Given the description of an element on the screen output the (x, y) to click on. 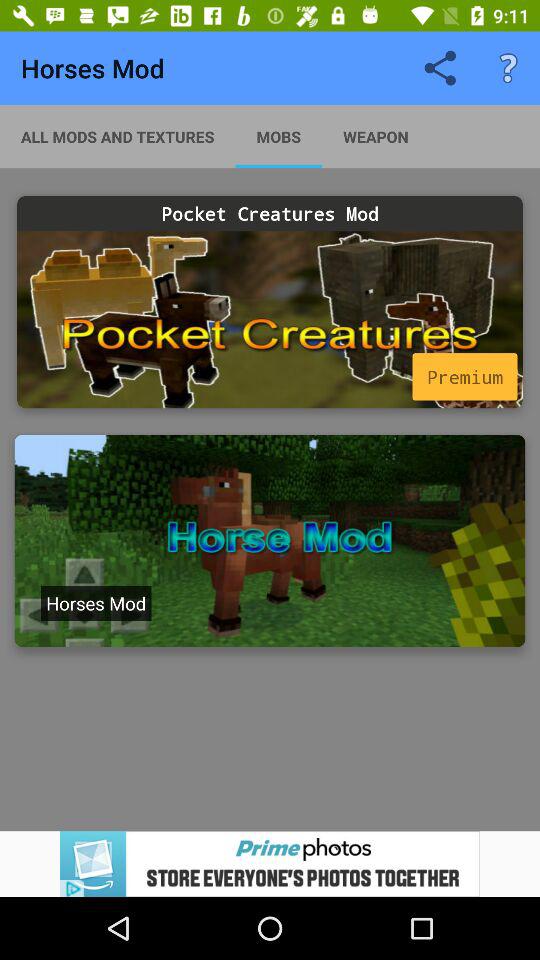
picture option (269, 541)
